Given the description of an element on the screen output the (x, y) to click on. 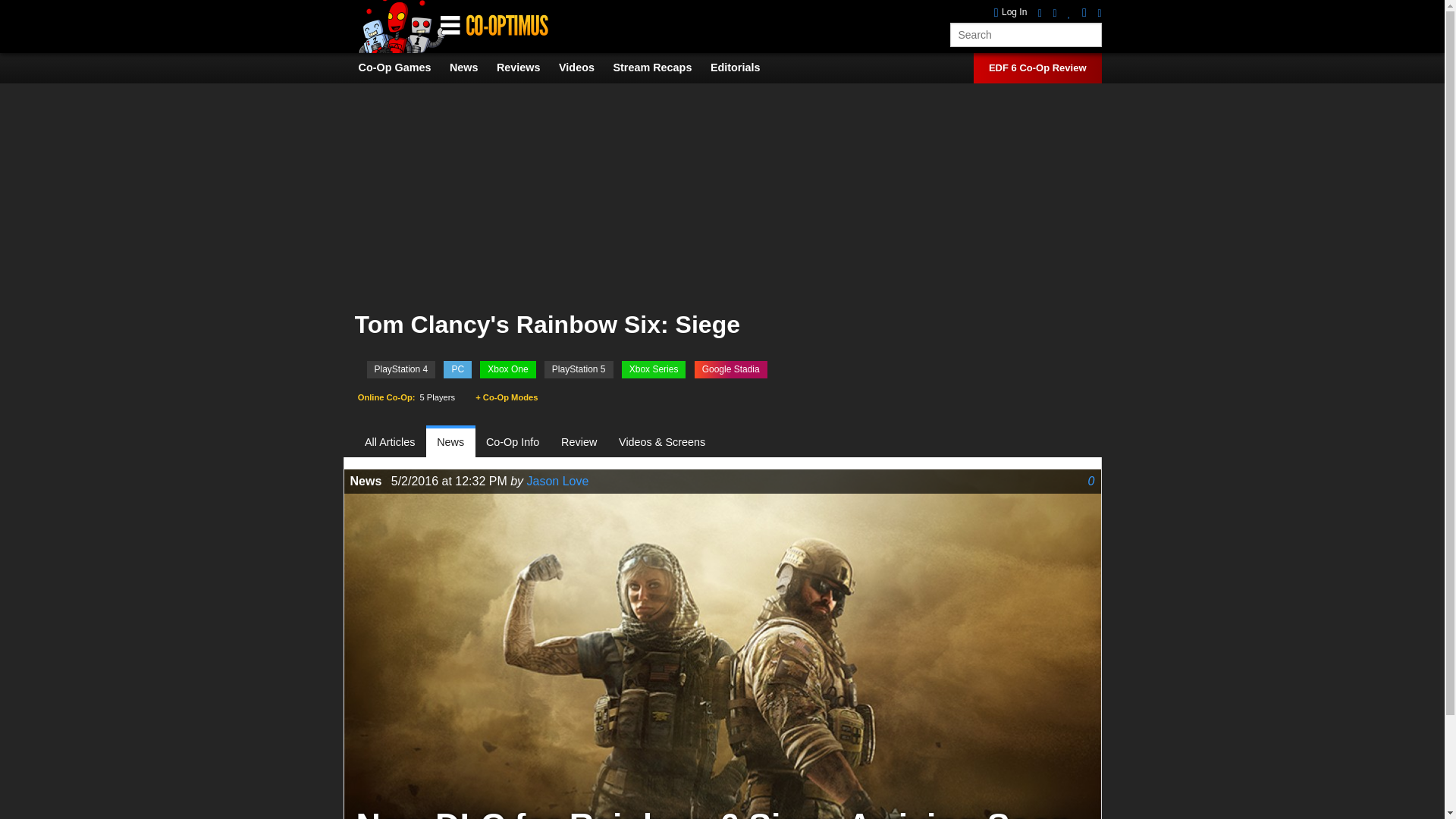
Editorials (743, 67)
Xbox Series (653, 369)
PlayStation 4 (400, 369)
Stream Recaps (659, 67)
PlayStation 5 (578, 369)
News (471, 67)
Videos (584, 67)
All Articles (395, 442)
Weekly Video Streams and VODs from Co-Optimus (659, 67)
PC (457, 369)
